Given the description of an element on the screen output the (x, y) to click on. 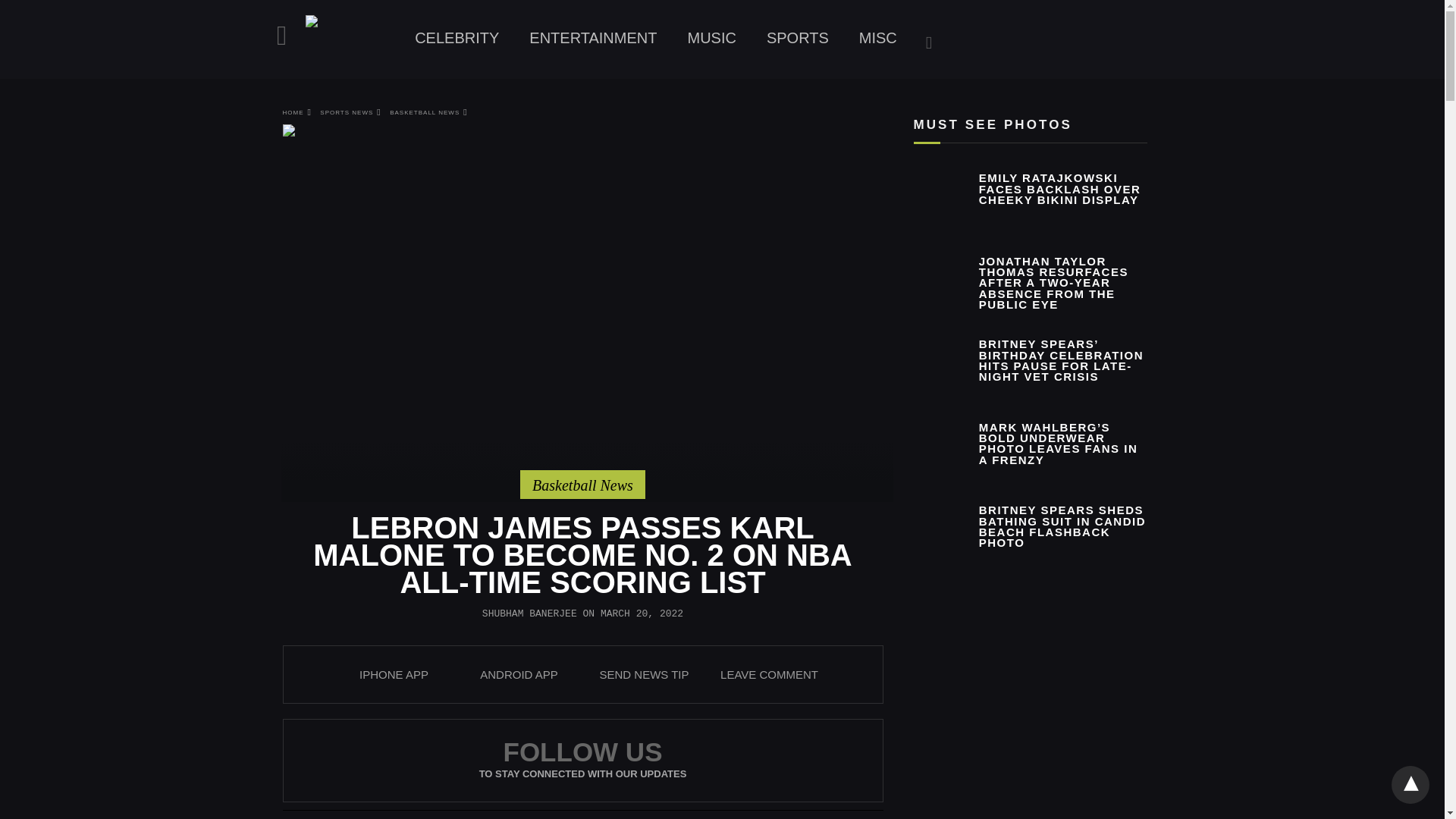
Sports News (797, 37)
MISC (878, 37)
SEND NEWS TIP (643, 674)
ENTERTAINMENT (592, 37)
Thirsty for News (351, 41)
Basketball News (582, 484)
MUSIC (711, 37)
SPORTS NEWS (350, 112)
HOME (296, 112)
ANDROID APP (518, 674)
